Given the description of an element on the screen output the (x, y) to click on. 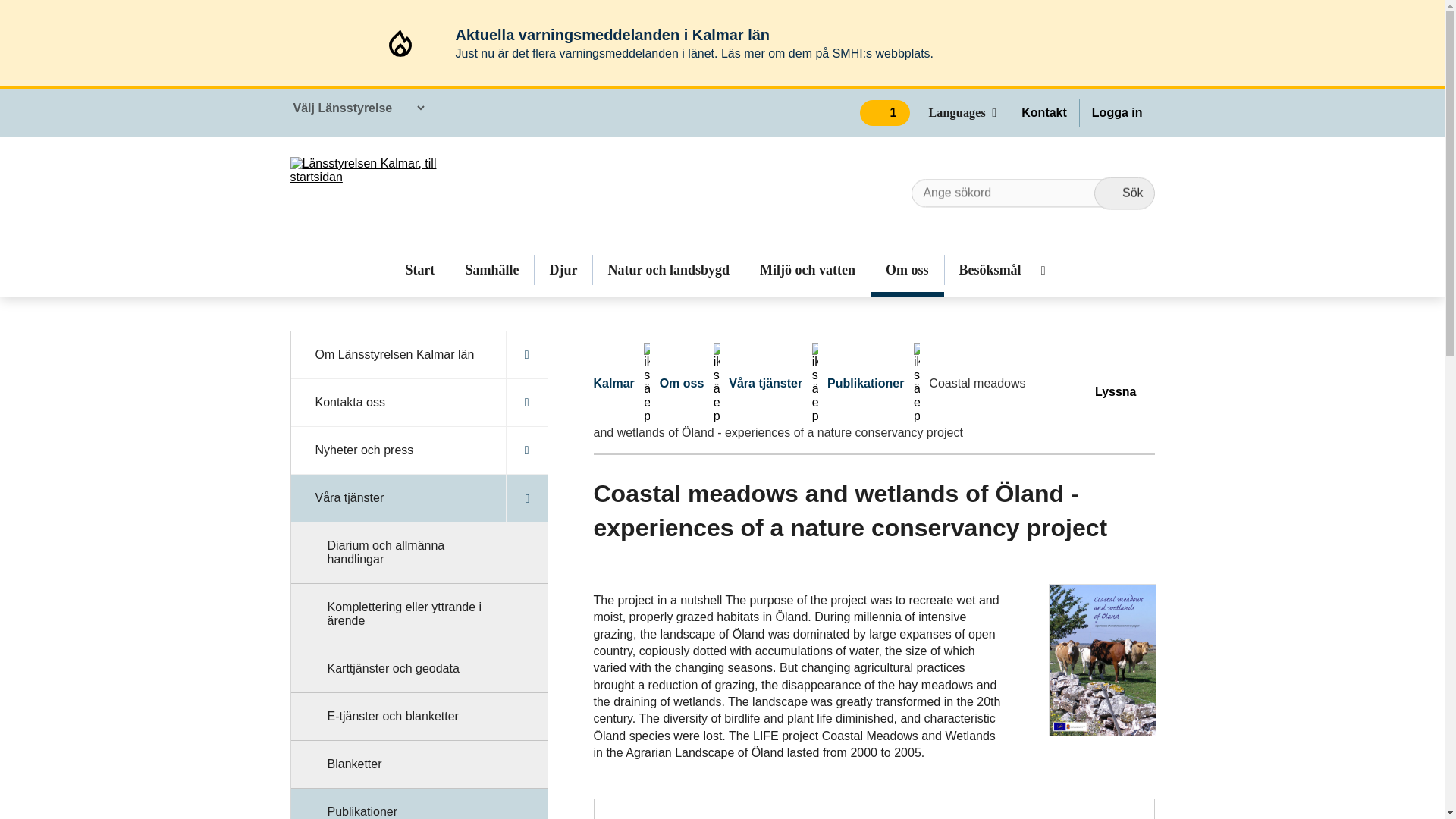
Djur (563, 269)
Natur och landsbygd (668, 269)
Start (419, 269)
Om oss (906, 269)
Languages (968, 112)
1 (885, 112)
Logga in (1117, 112)
Kontakt (1043, 112)
